Given the description of an element on the screen output the (x, y) to click on. 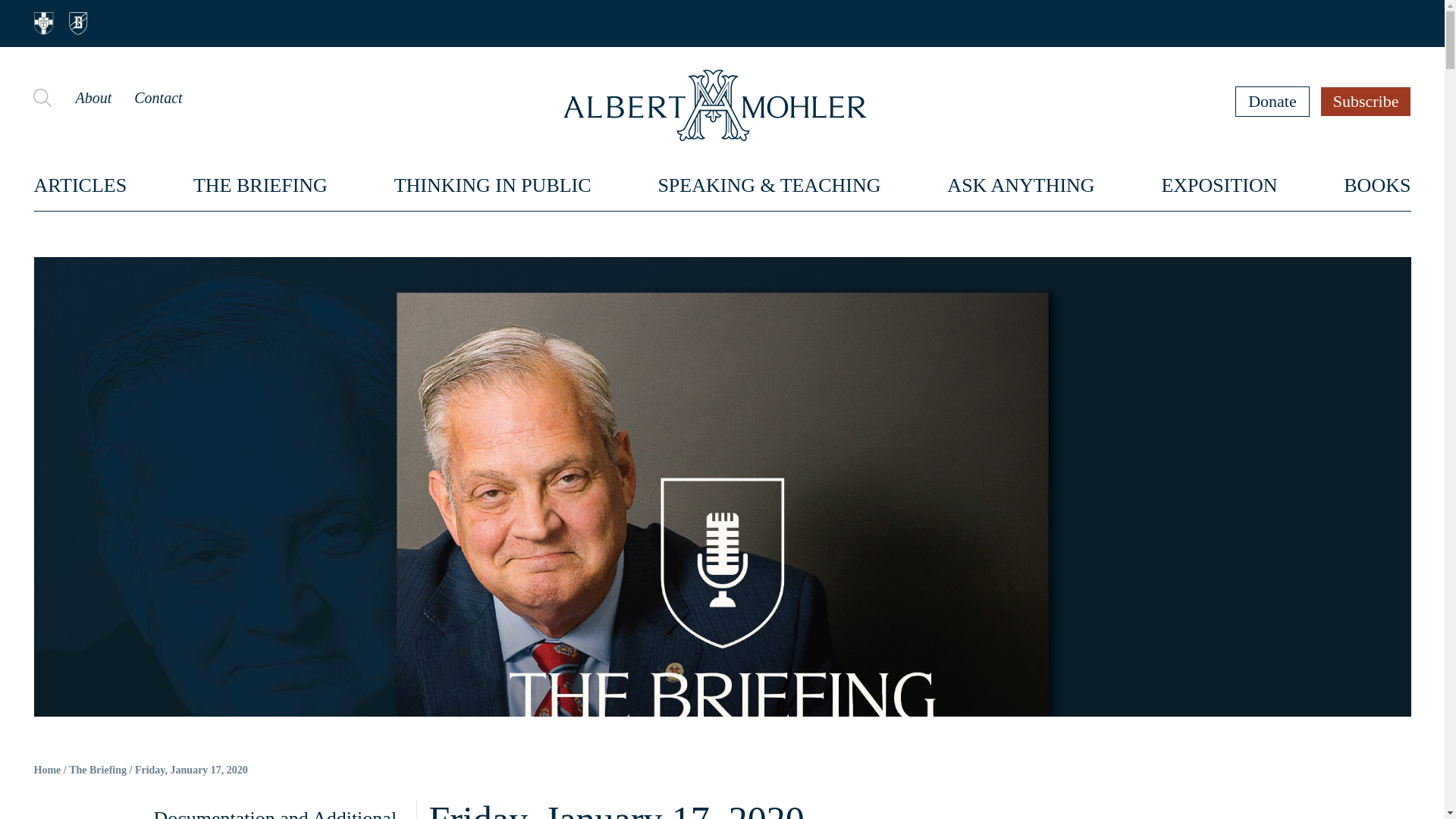
The Briefing (97, 770)
BOOKS (1376, 185)
Subscribe (1366, 101)
THE BRIEFING (260, 185)
Home (47, 770)
ARTICLES (79, 185)
Contact (157, 97)
EXPOSITION (1218, 185)
THINKING IN PUBLIC (492, 185)
ASK ANYTHING (1020, 185)
About (93, 97)
Donate (1272, 101)
